Given the description of an element on the screen output the (x, y) to click on. 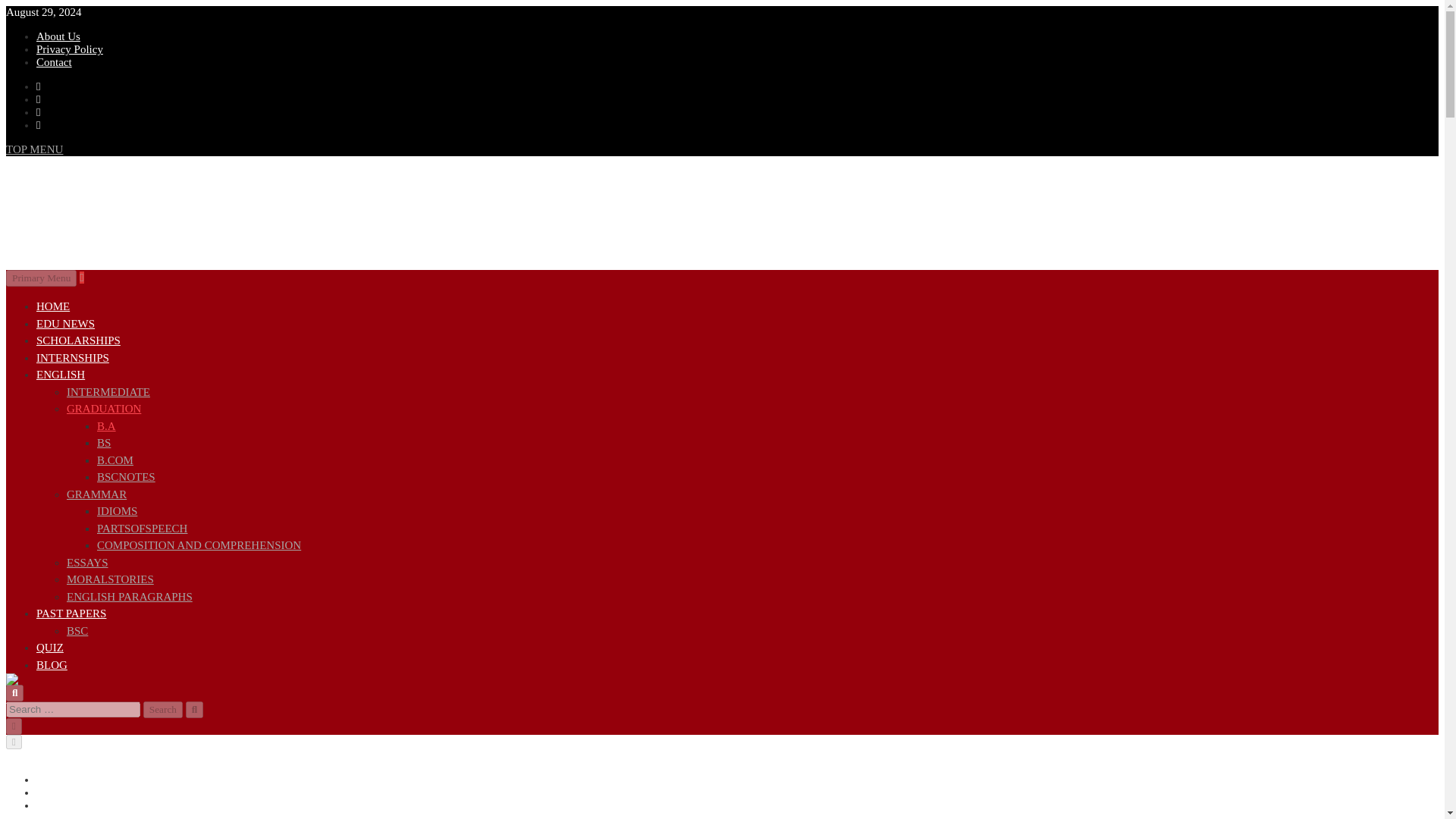
BS (103, 442)
TOP MENU (33, 149)
BSCNOTES (126, 476)
EDU NEWS (65, 322)
HOME (52, 306)
PARTSOFSPEECH (142, 527)
BLOG (51, 664)
QUIZ (50, 647)
PAST PAPERS (71, 613)
